Given the description of an element on the screen output the (x, y) to click on. 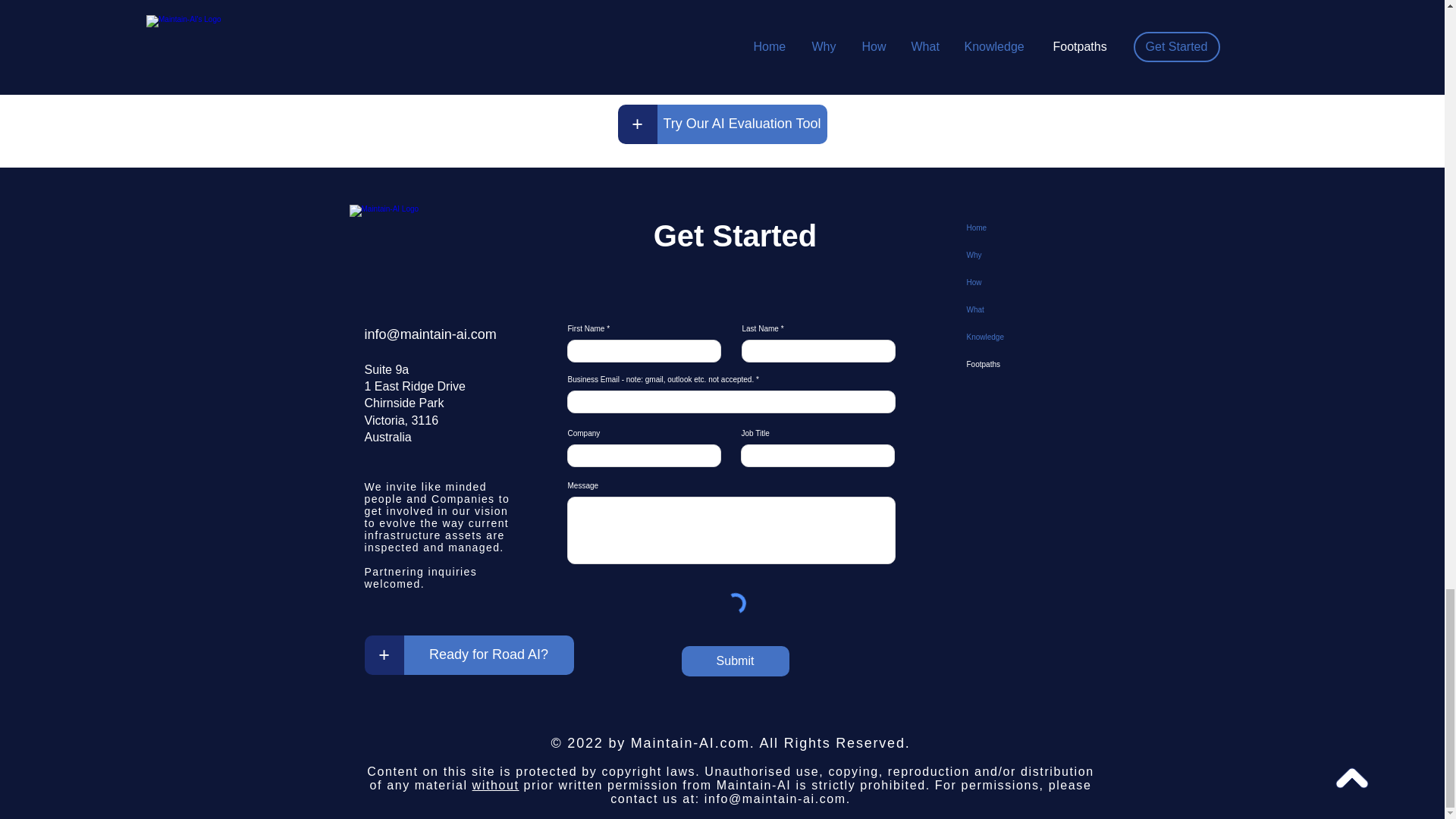
Knowledge (1019, 337)
Home (1019, 227)
Footpaths (1019, 364)
How (1019, 282)
Get Started (741, 71)
Submit (735, 661)
Why (1019, 255)
What (1019, 309)
Ready for Road AI? (488, 654)
Try Our AI Evaluation Tool (741, 124)
